Given the description of an element on the screen output the (x, y) to click on. 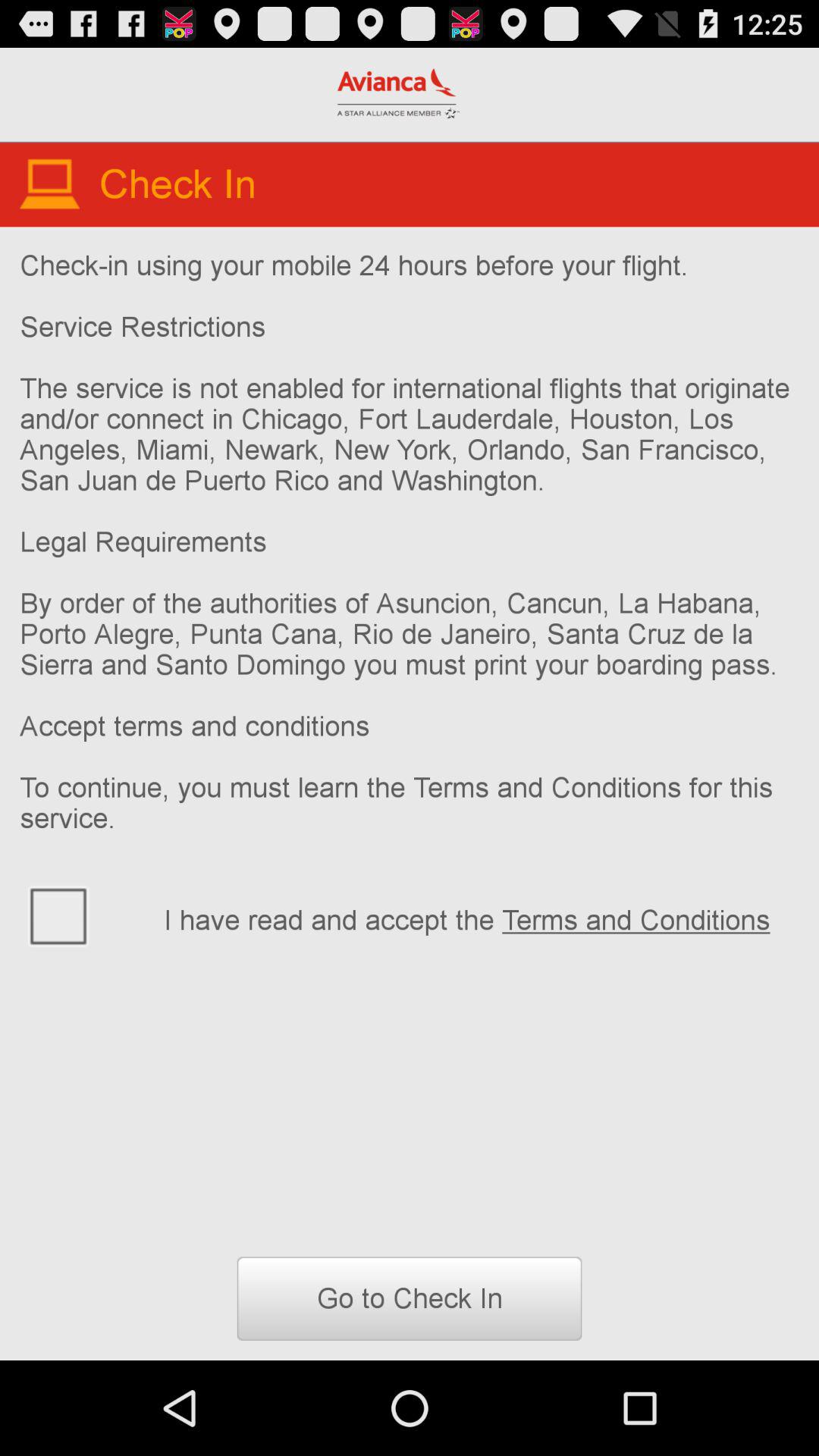
launch go to check icon (409, 1298)
